Given the description of an element on the screen output the (x, y) to click on. 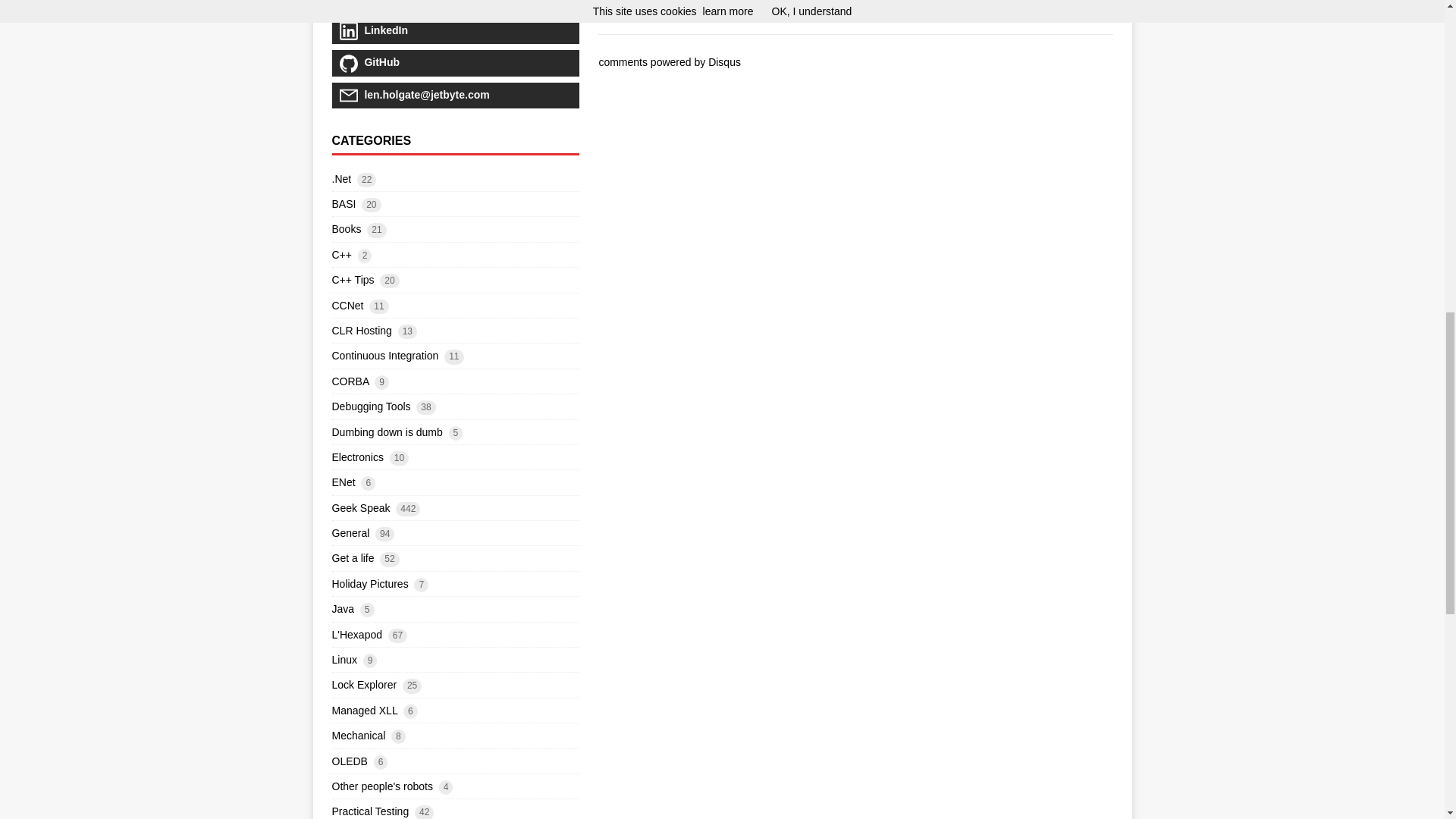
Email (455, 95)
GitHub (455, 62)
.Net (341, 178)
Books (346, 228)
CORBA (350, 381)
LinkedIn (455, 31)
GitHub (455, 62)
Continuous Integration (385, 355)
CLR Hosting (361, 330)
Instagram (455, 6)
BASI (343, 203)
Instagram (455, 6)
comments powered by Disqus (669, 61)
LinkedIn (455, 31)
CCNet (347, 305)
